Given the description of an element on the screen output the (x, y) to click on. 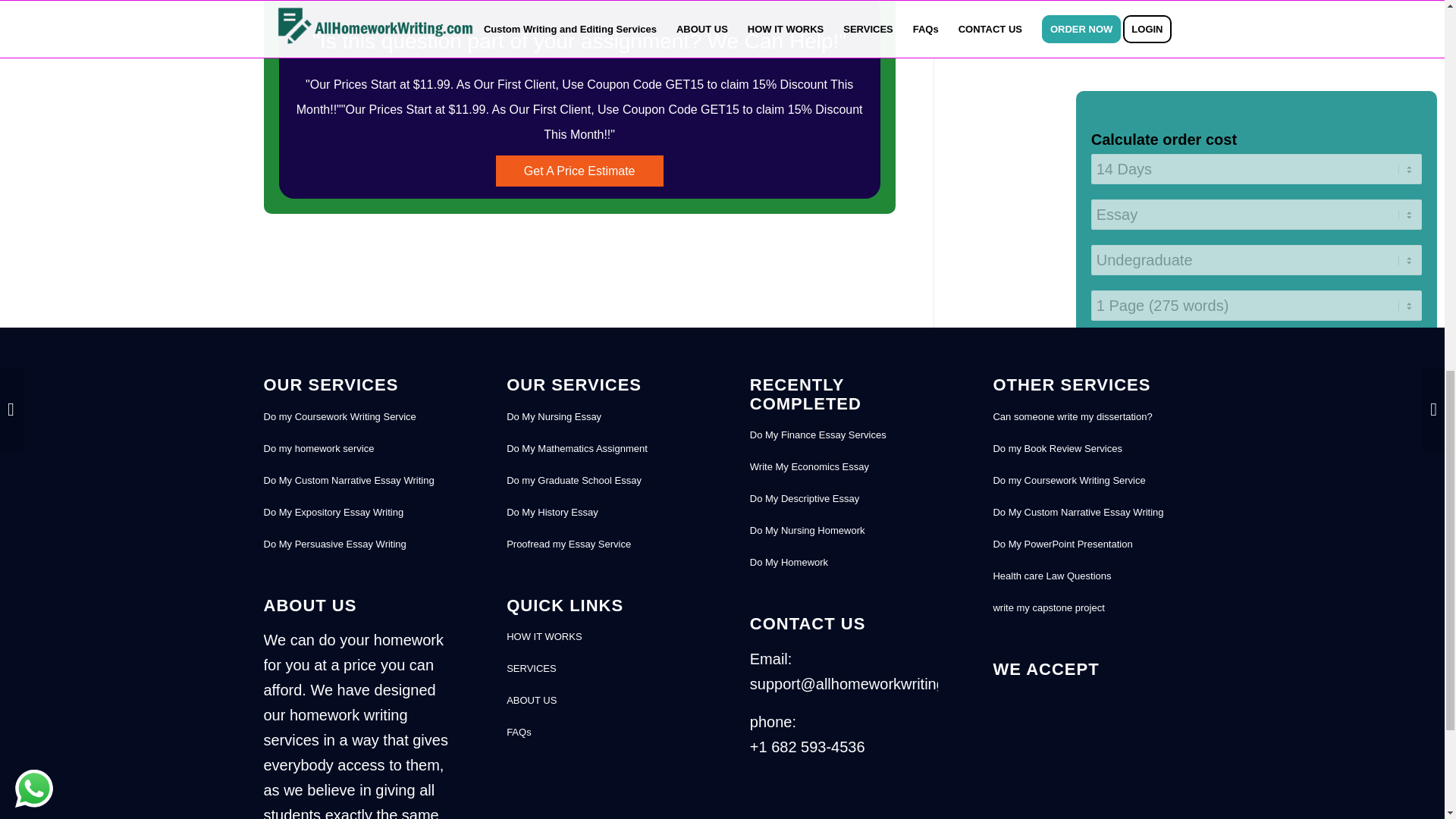
SERVICES (600, 668)
Do My Expository Essay Writing (357, 512)
Do My Custom Narrative Essay Writing (357, 480)
Write My Economics Essay (843, 467)
Do My Homework (843, 562)
Do my Coursework Writing Service (357, 417)
Do My History Essay (600, 512)
Proofread my Essay Service (600, 544)
FAQs (600, 732)
Do My Nursing Essay (600, 417)
Do My Mathematics Assignment (600, 449)
Do My Descriptive Essay (843, 499)
Can someone write my dissertation? (1086, 417)
Do My Nursing Homework (843, 531)
HOW IT WORKS (600, 636)
